Given the description of an element on the screen output the (x, y) to click on. 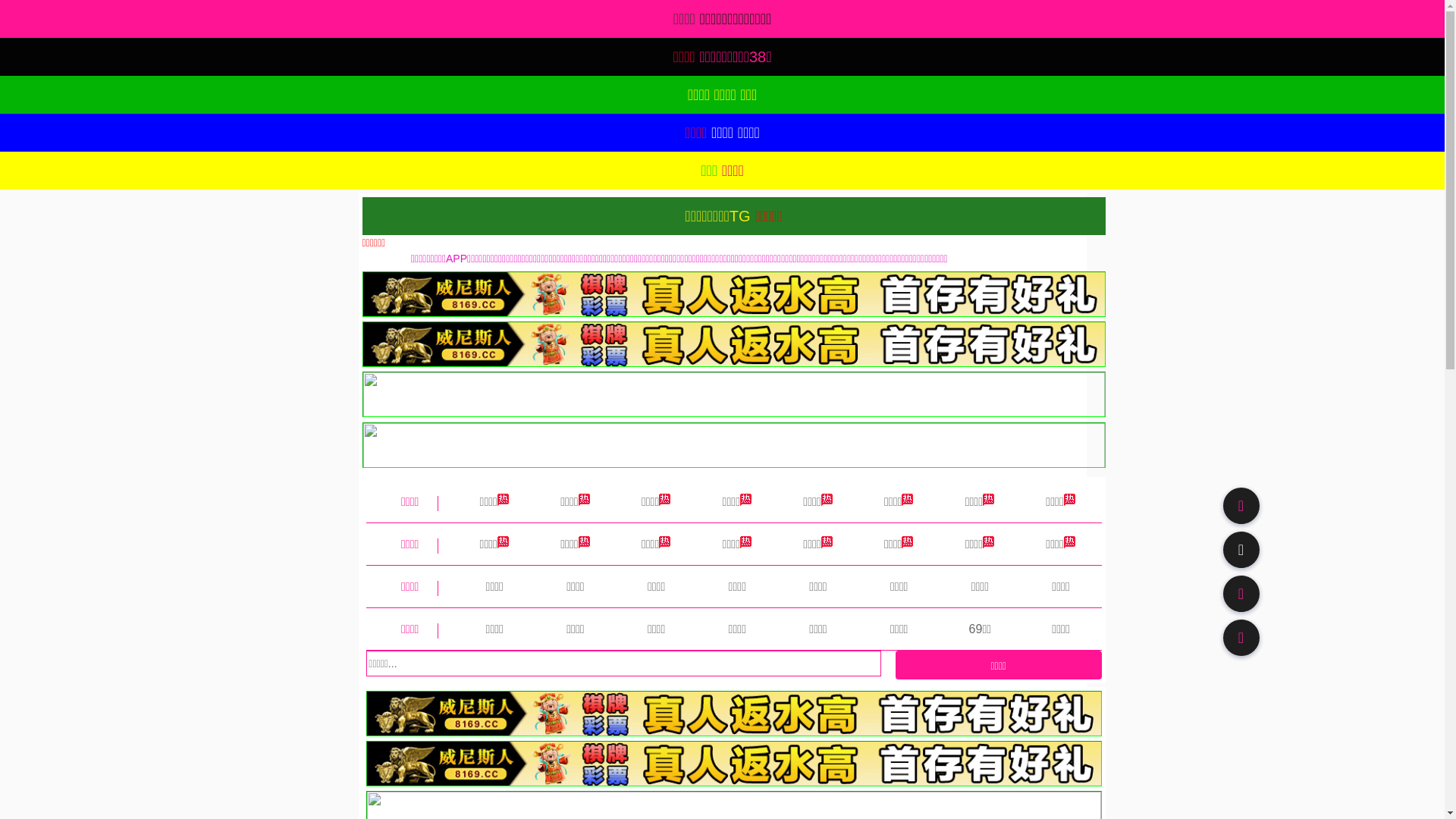
91TV Element type: hover (1240, 593)
